Given the description of an element on the screen output the (x, y) to click on. 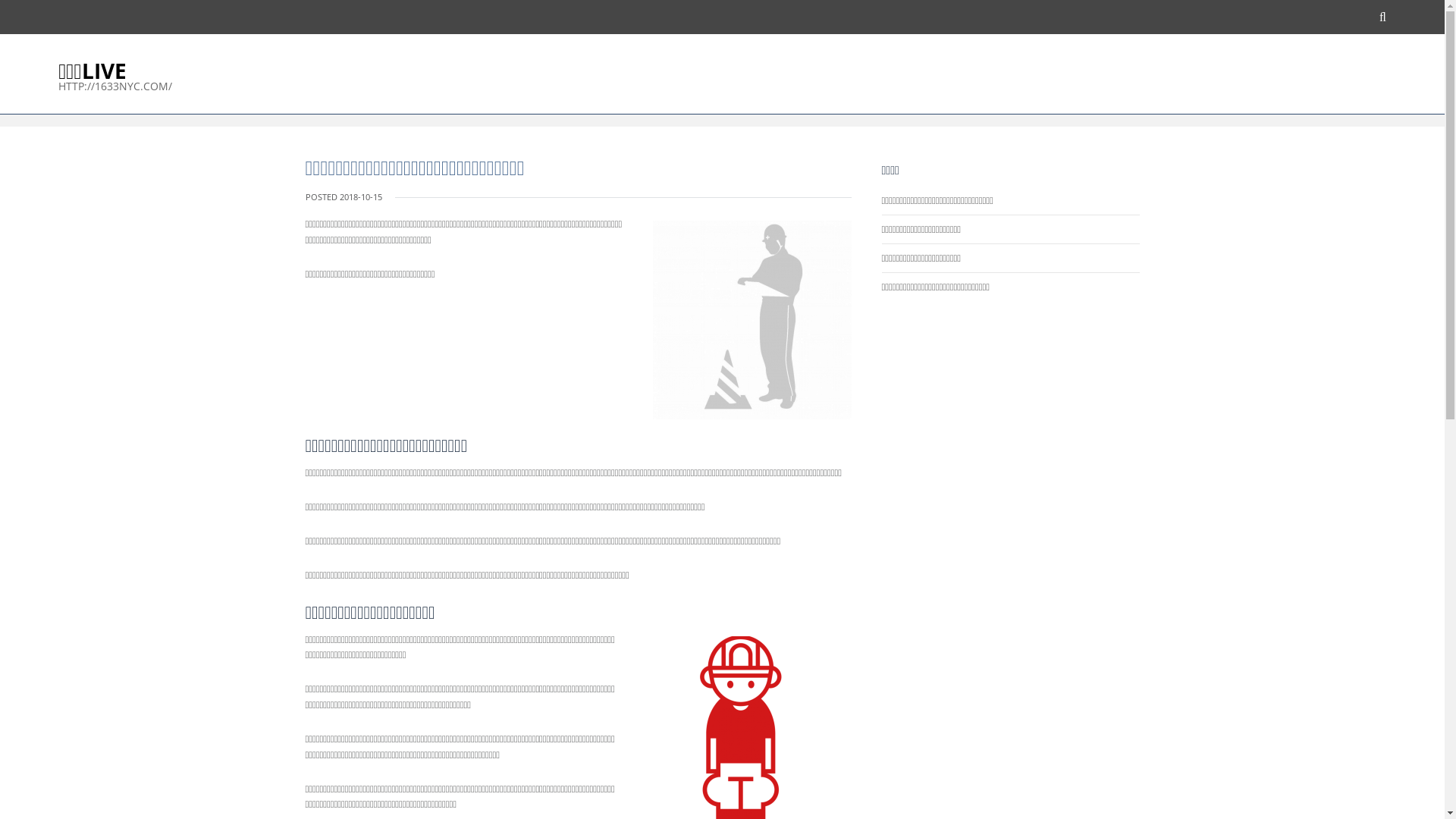
Skip to content Element type: text (0, 0)
Search Element type: text (958, 15)
